Given the description of an element on the screen output the (x, y) to click on. 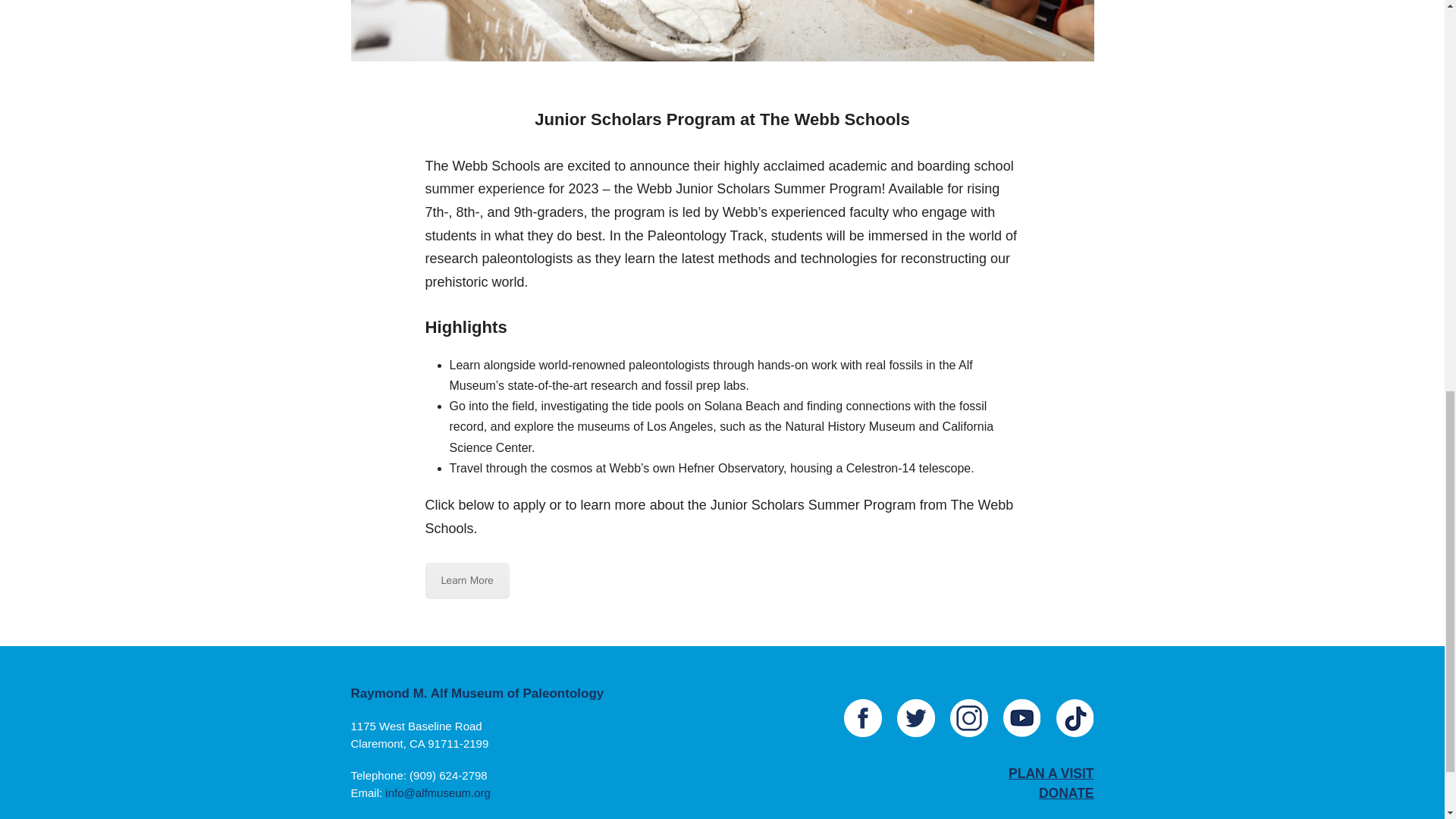
Learn More (466, 580)
PLAN A VISIT (1051, 773)
Junior Scholars Summer Program (466, 580)
WebbSummerSessionOne088-1-scaled (721, 30)
DONATE (1066, 792)
